Given the description of an element on the screen output the (x, y) to click on. 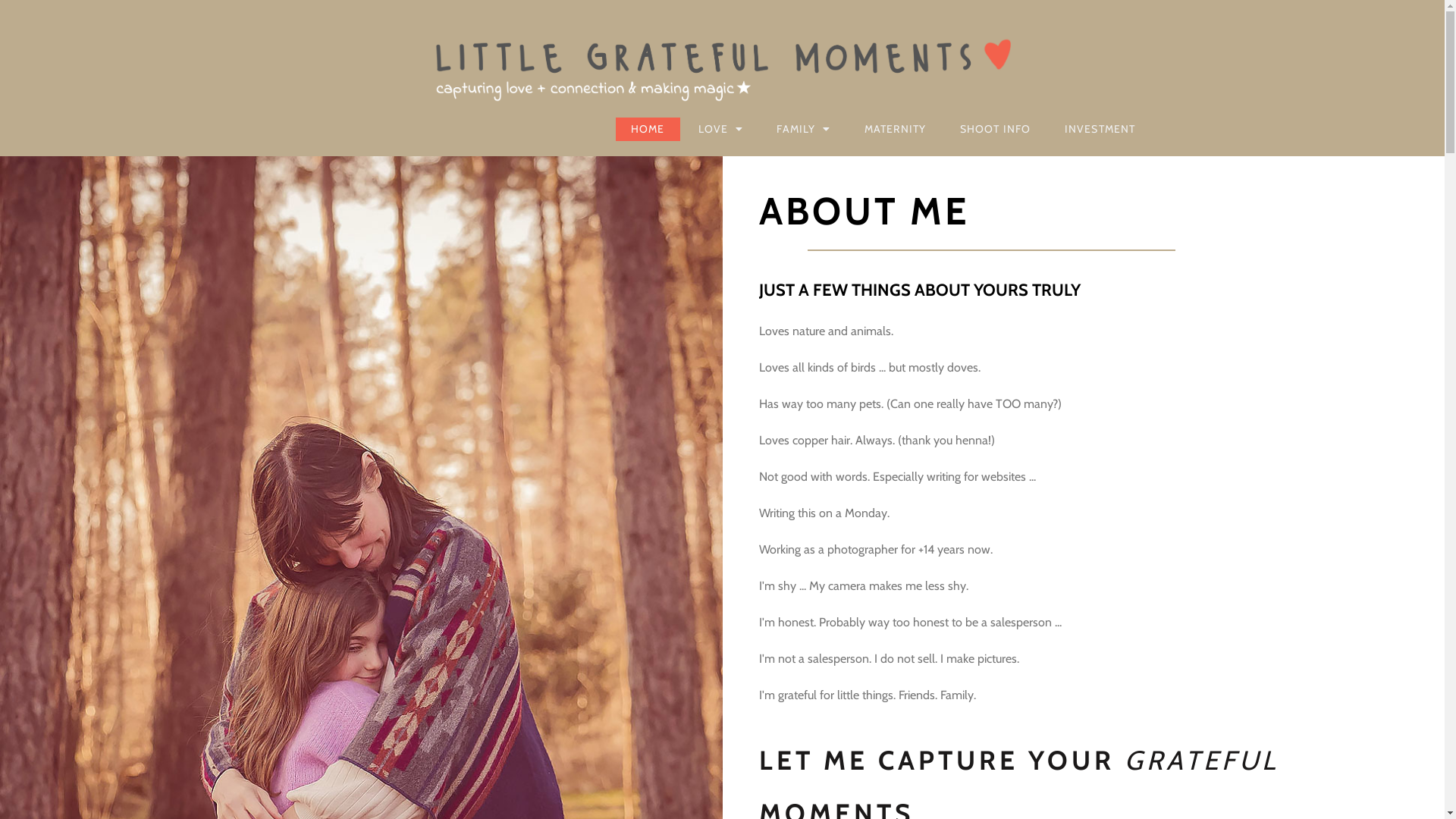
LOVE Element type: text (721, 129)
HOME Element type: text (647, 129)
SHOOT INFO Element type: text (995, 129)
MATERNITY Element type: text (895, 129)
FAMILY Element type: text (803, 129)
INVESTMENT Element type: text (1100, 129)
